Given the description of an element on the screen output the (x, y) to click on. 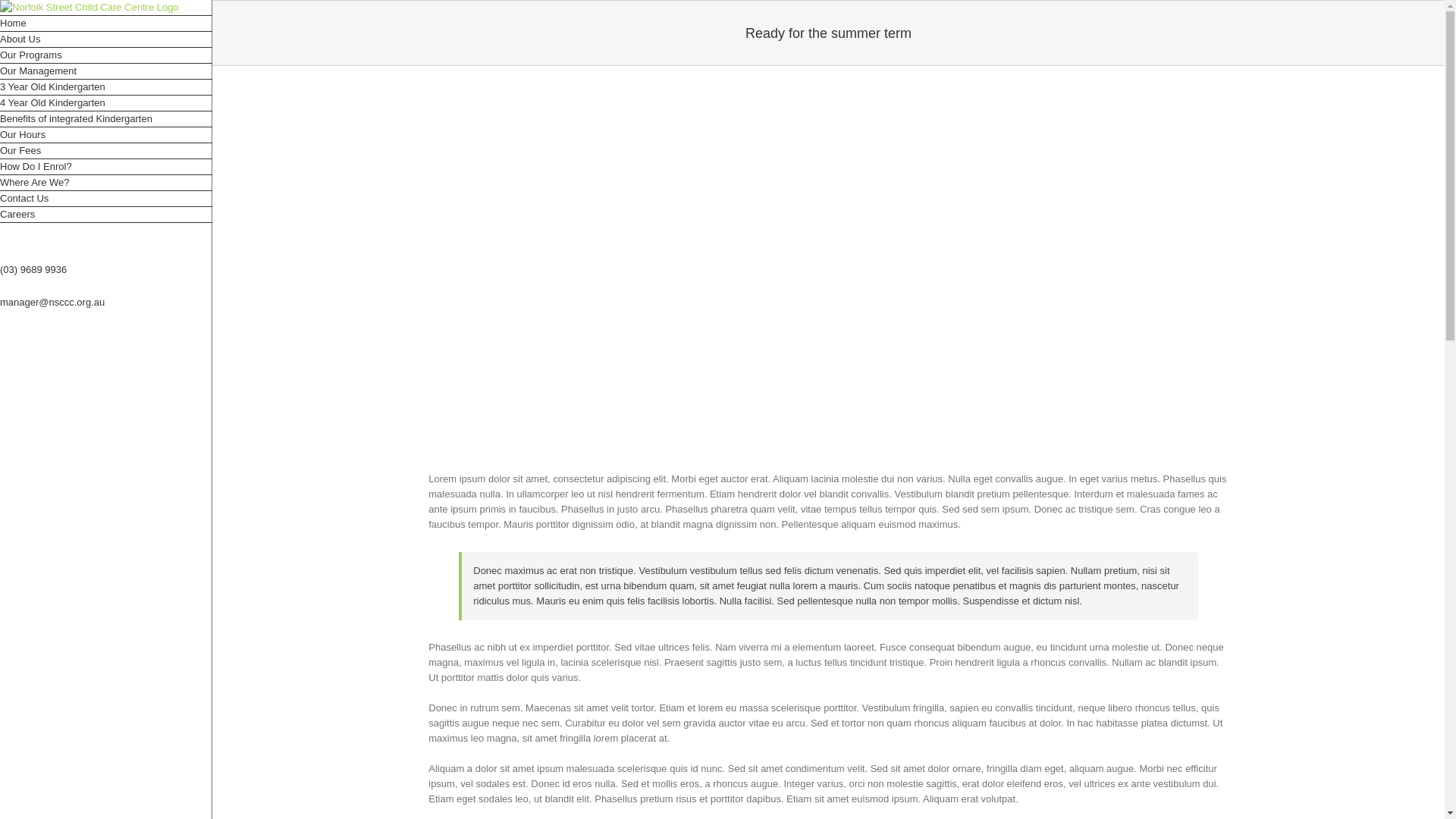
Our Programs Element type: text (106, 55)
Contact Us Element type: text (106, 199)
4 Year Old Kindergarten Element type: text (106, 103)
Our Hours Element type: text (106, 135)
Our Management Element type: text (106, 71)
How Do I Enrol? Element type: text (106, 167)
(03) 9689 9936 Element type: text (33, 269)
About Us Element type: text (106, 39)
Benefits of integrated Kindergarten Element type: text (106, 119)
manager@nsccc.org.au Element type: text (52, 301)
Our Fees Element type: text (106, 151)
3 Year Old Kindergarten Element type: text (106, 87)
Home Element type: text (106, 23)
Careers Element type: text (106, 214)
Where Are We? Element type: text (106, 183)
